Given the description of an element on the screen output the (x, y) to click on. 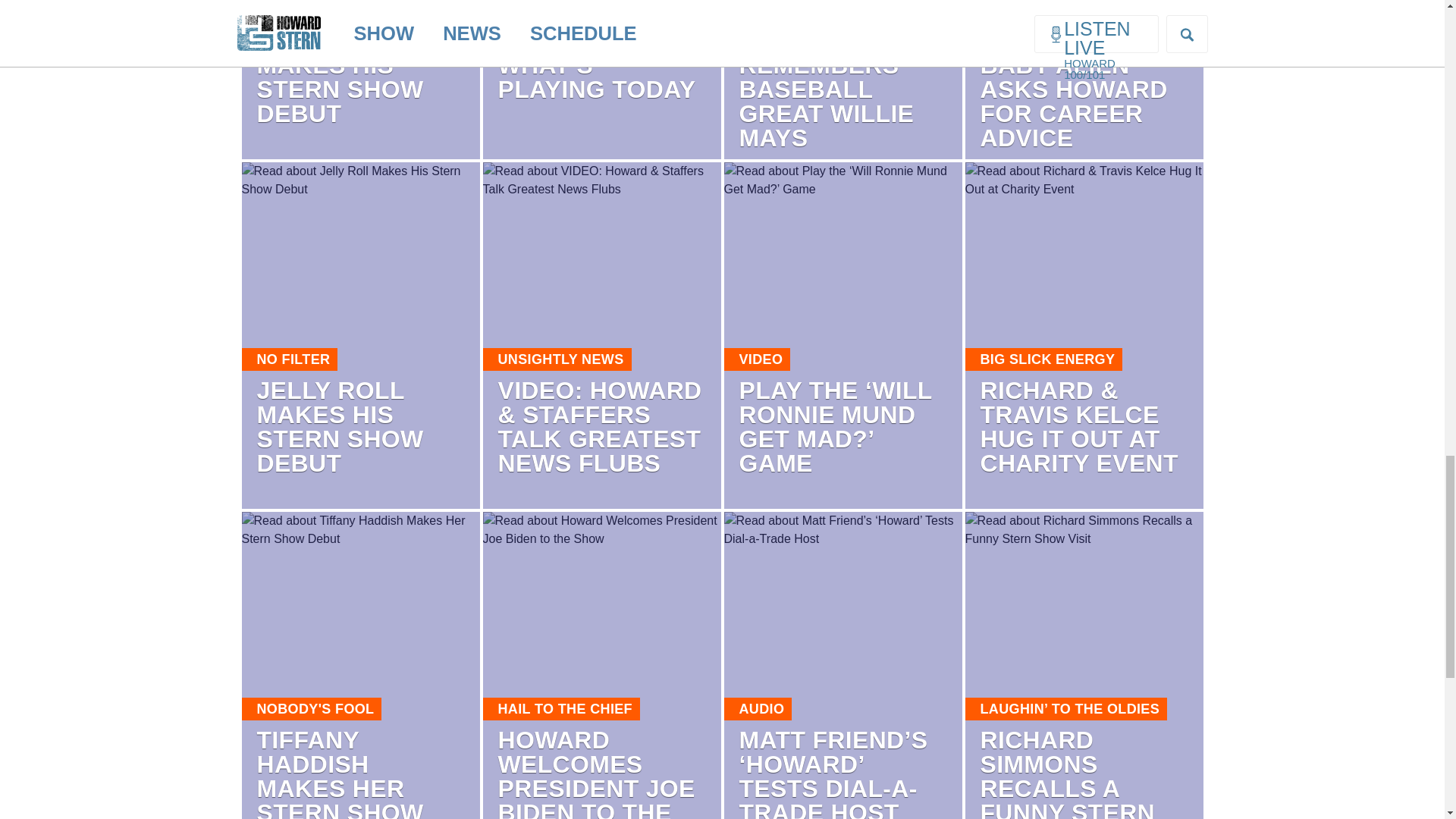
PORN STAR BABY ALIEN ASKS HOWARD FOR CAREER ADVICE (1073, 89)
KEVIN COSTNER MAKES HIS STERN SHOW DEBUT (357, 77)
STERN SHOW REMEMBERS BASEBALL GREAT WILLIE MAYS (826, 89)
